Given the description of an element on the screen output the (x, y) to click on. 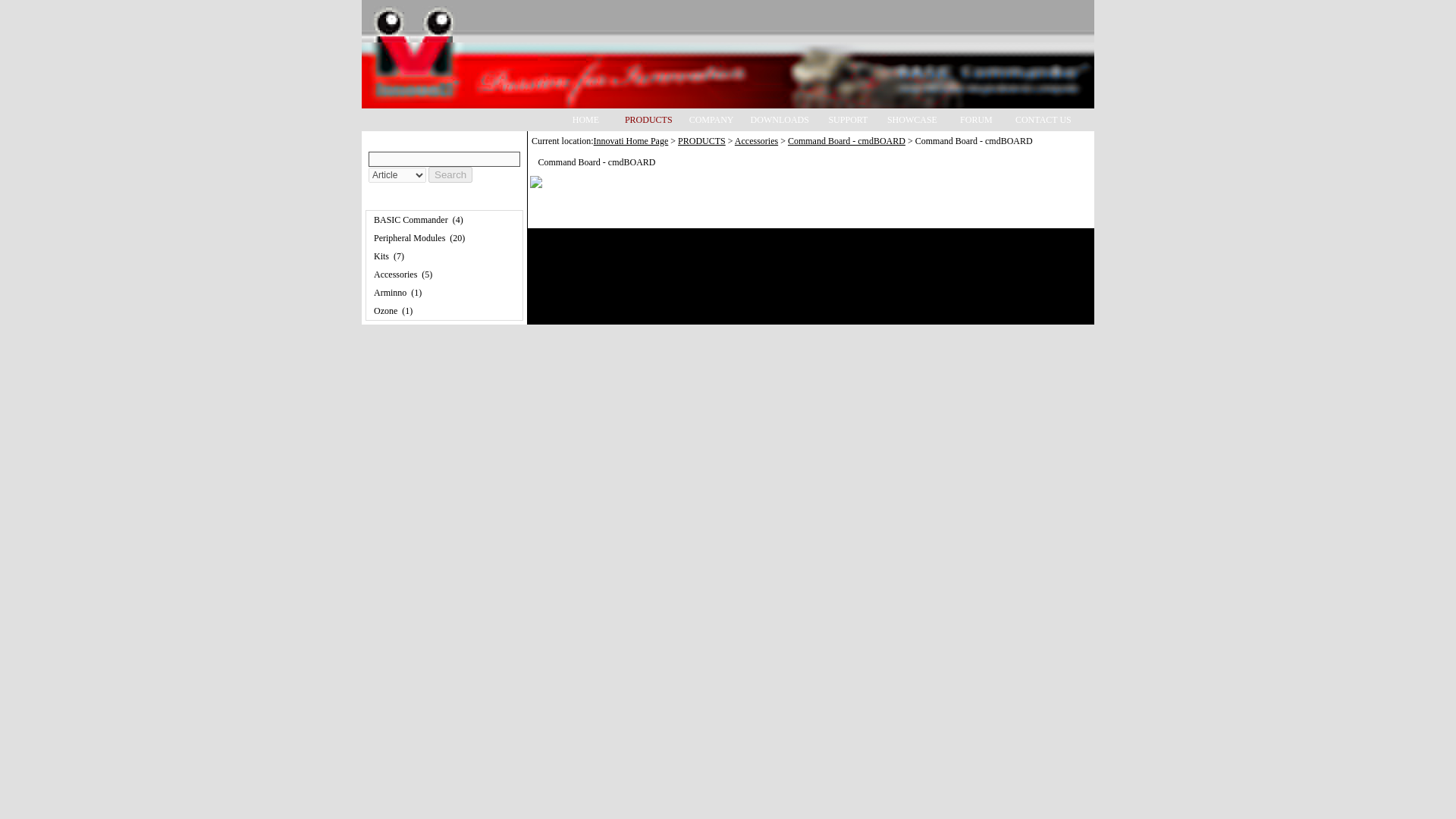
SUPPORT (847, 118)
Peripheral Modules (409, 237)
COMPANY (710, 118)
HOME (585, 118)
Search (449, 174)
PRODUCTS (701, 140)
BASIC Commander (411, 219)
CONTACT US (1042, 118)
DOWNLOADS (780, 118)
FORUM (975, 118)
